Given the description of an element on the screen output the (x, y) to click on. 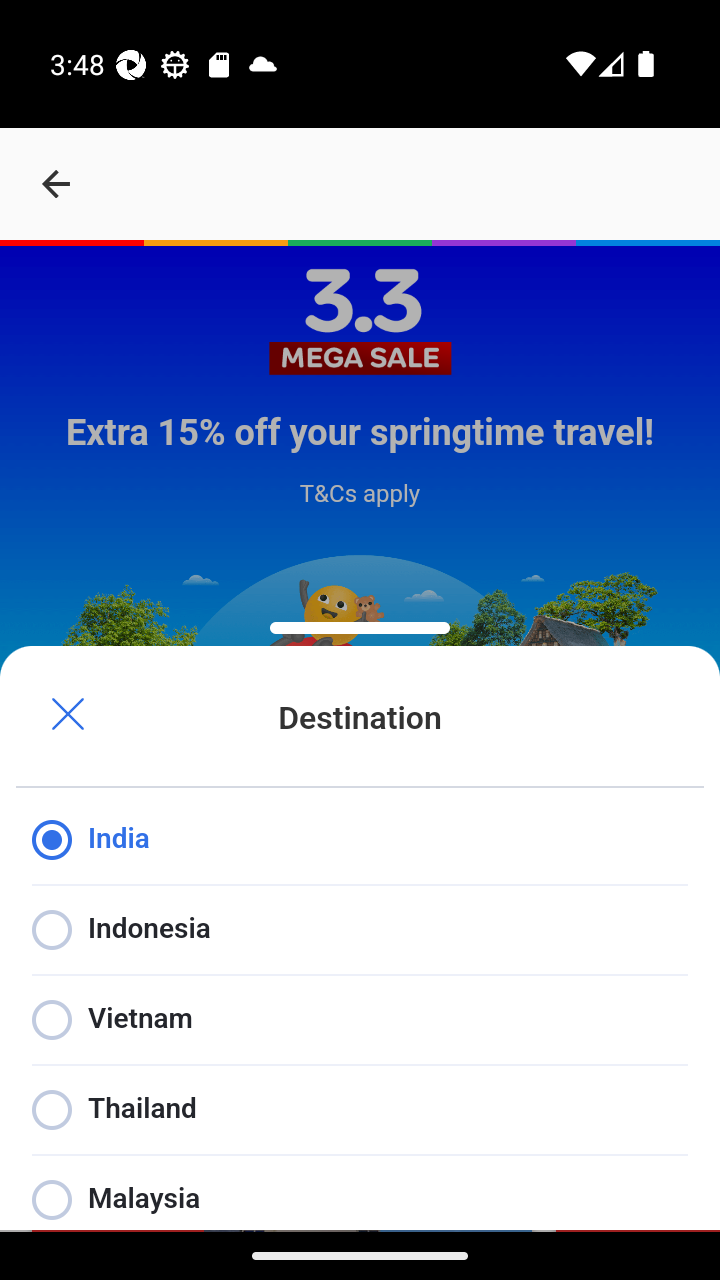
navigation_button (56, 184)
New Delhi and NCR (150, 1101)
